Given the description of an element on the screen output the (x, y) to click on. 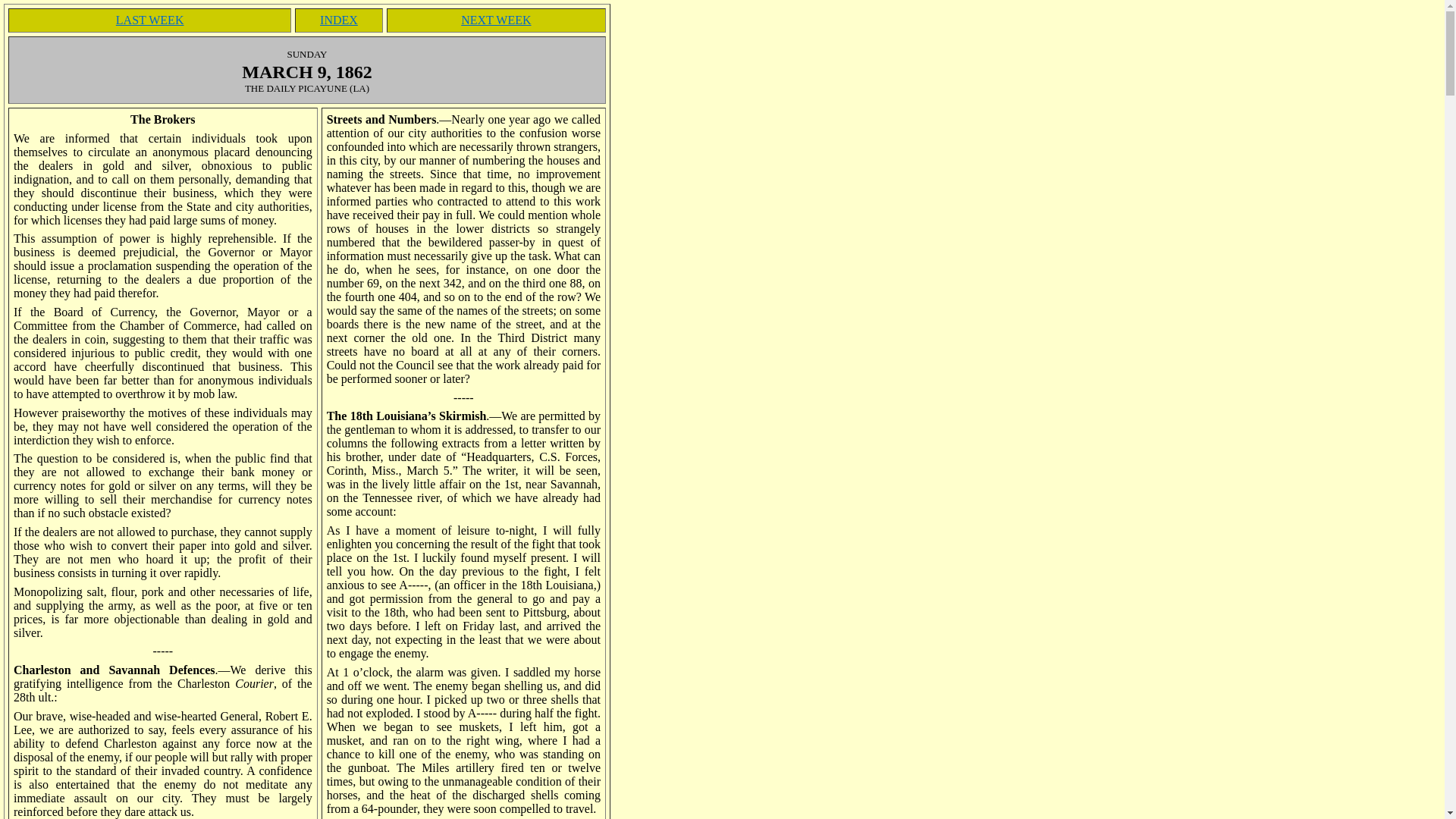
NEXT WEEK (496, 19)
INDEX (339, 19)
LAST WEEK (150, 19)
